Given the description of an element on the screen output the (x, y) to click on. 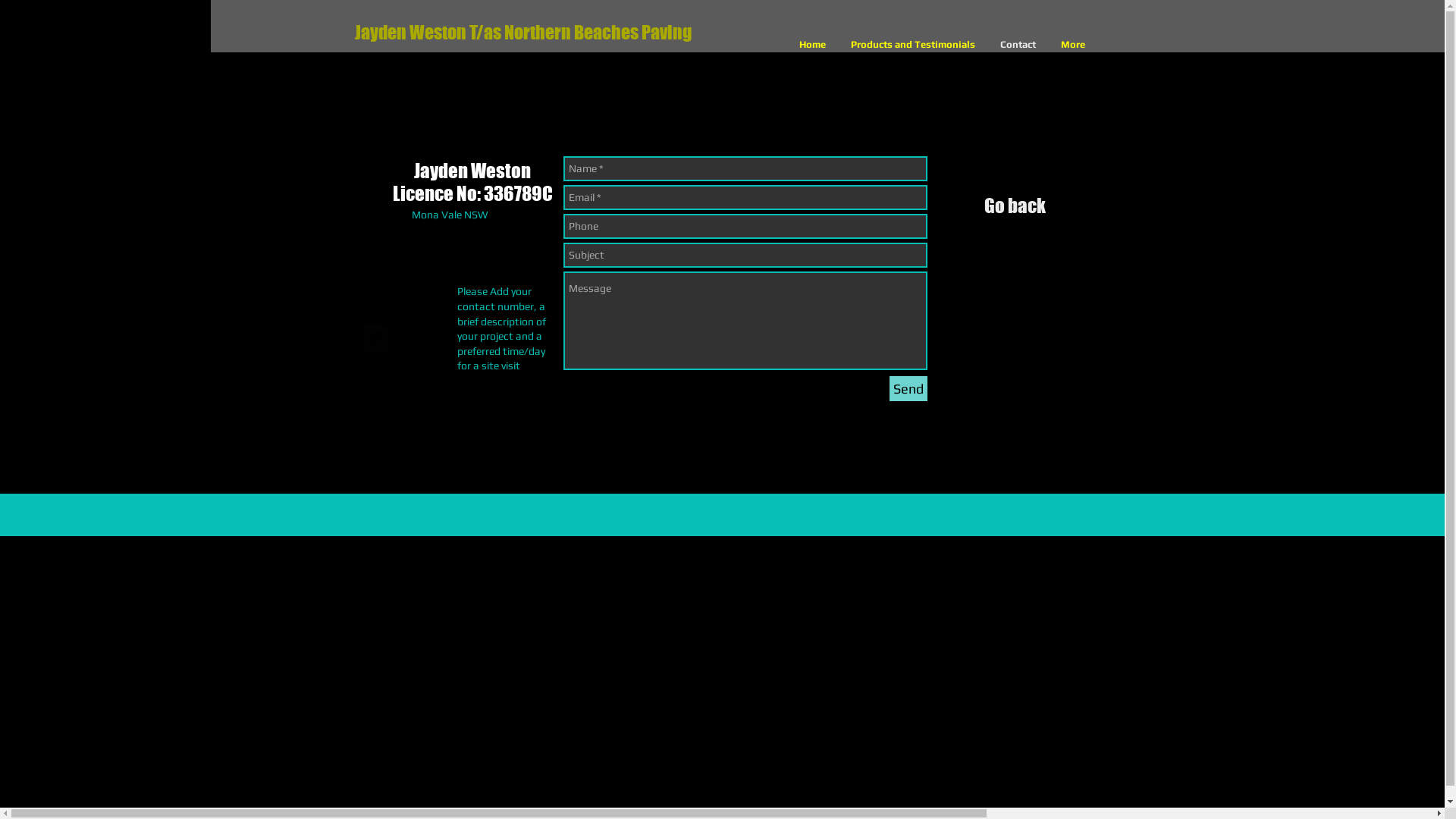
Products and Testimonials Element type: text (913, 43)
Send Element type: text (907, 388)
Contact Element type: text (1017, 43)
Go back Element type: text (1014, 210)
Home Element type: text (812, 43)
